Given the description of an element on the screen output the (x, y) to click on. 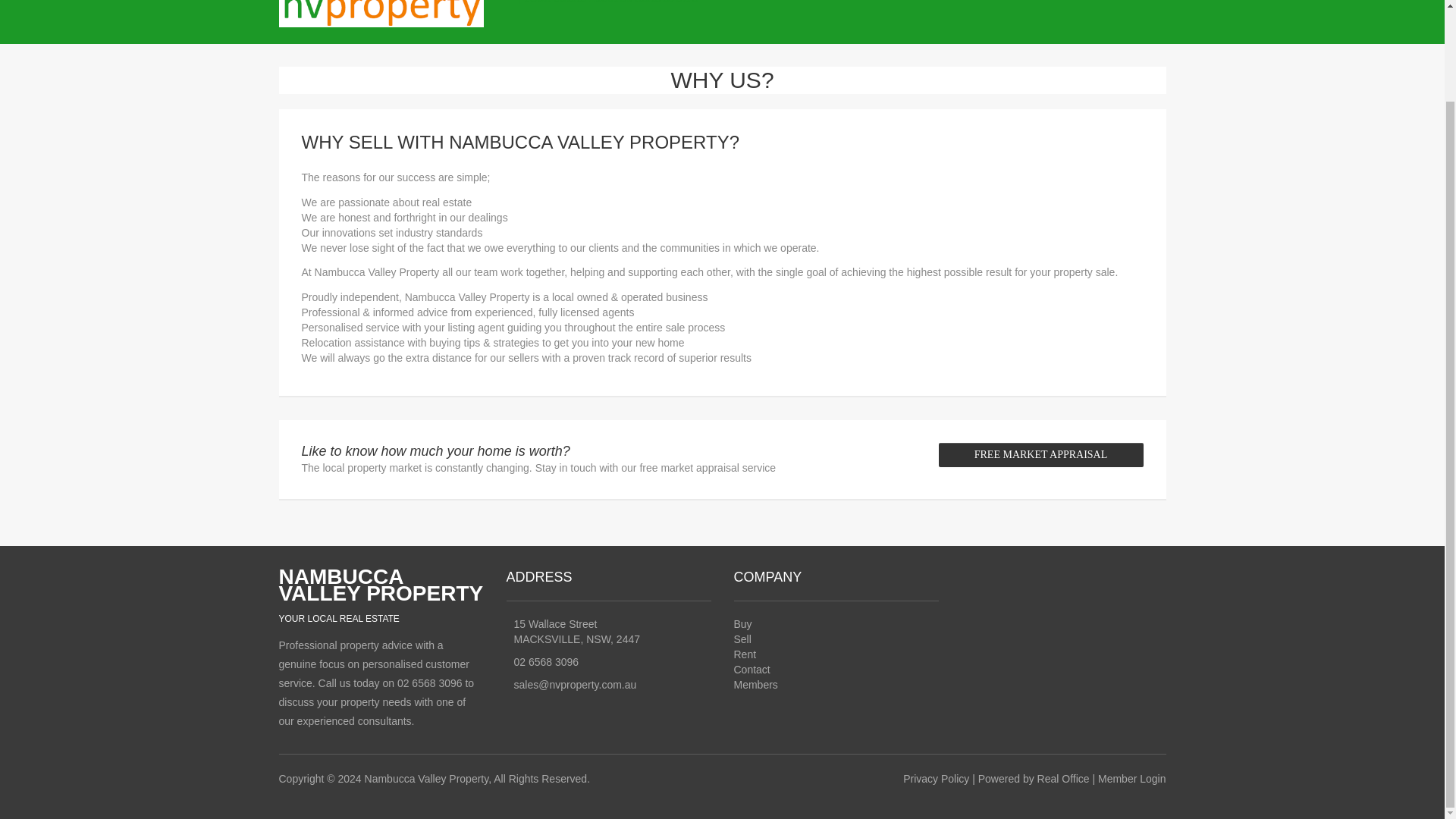
Member Login (755, 684)
Sell (742, 639)
Sell (742, 639)
Privacy Policy (935, 778)
02 6568 3096 (546, 662)
Buy (742, 623)
Contact (751, 669)
Buy (742, 623)
Rent (745, 654)
Rent (745, 654)
Real Office (1062, 778)
Market Appraisal (1040, 454)
Members (755, 684)
Agents (751, 669)
FREE MARKET APPRAISAL (1040, 454)
